Given the description of an element on the screen output the (x, y) to click on. 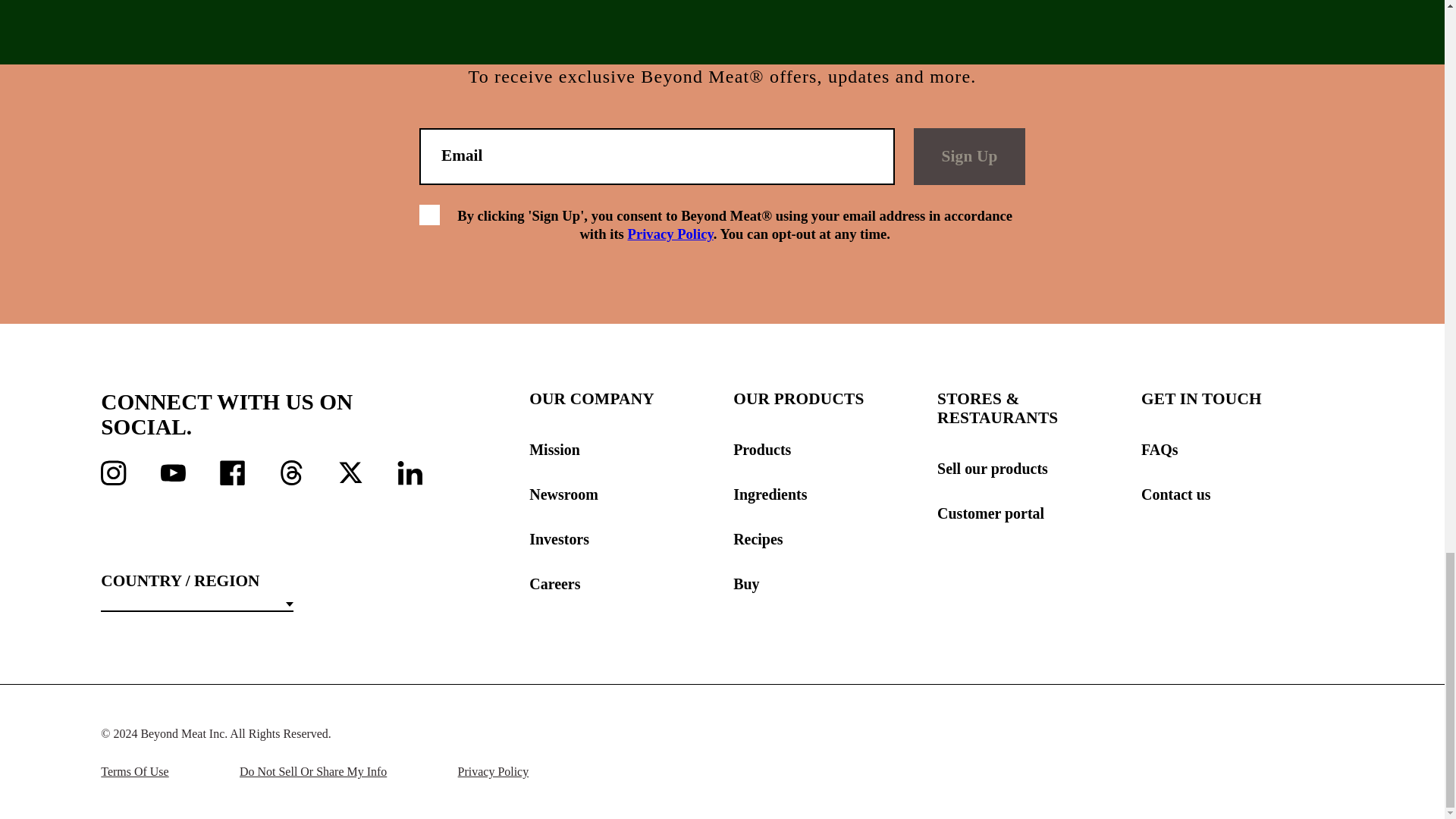
Careers (630, 583)
Buy (834, 583)
Customer portal (1038, 513)
Investors (630, 538)
on (429, 214)
Sell our products (1038, 468)
Recipes (834, 538)
Sign Up (969, 156)
Mission (630, 449)
Privacy Policy (670, 233)
